Given the description of an element on the screen output the (x, y) to click on. 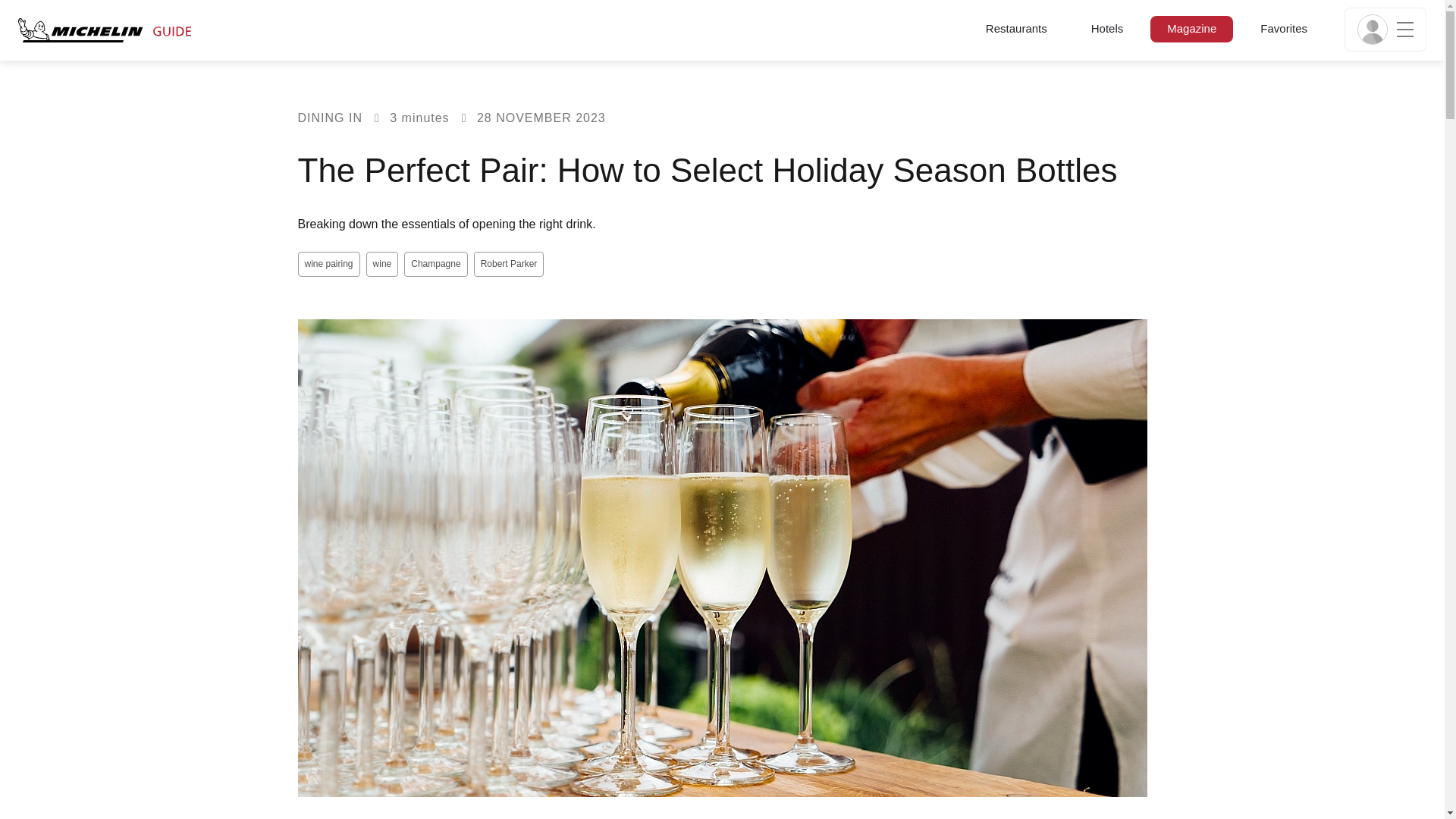
Hotels (1107, 28)
Restaurants (1016, 28)
Robert Parker (509, 263)
Favorites (1283, 28)
Magazine (1191, 28)
Champagne (435, 263)
wine (382, 263)
wine pairing (328, 263)
